Given the description of an element on the screen output the (x, y) to click on. 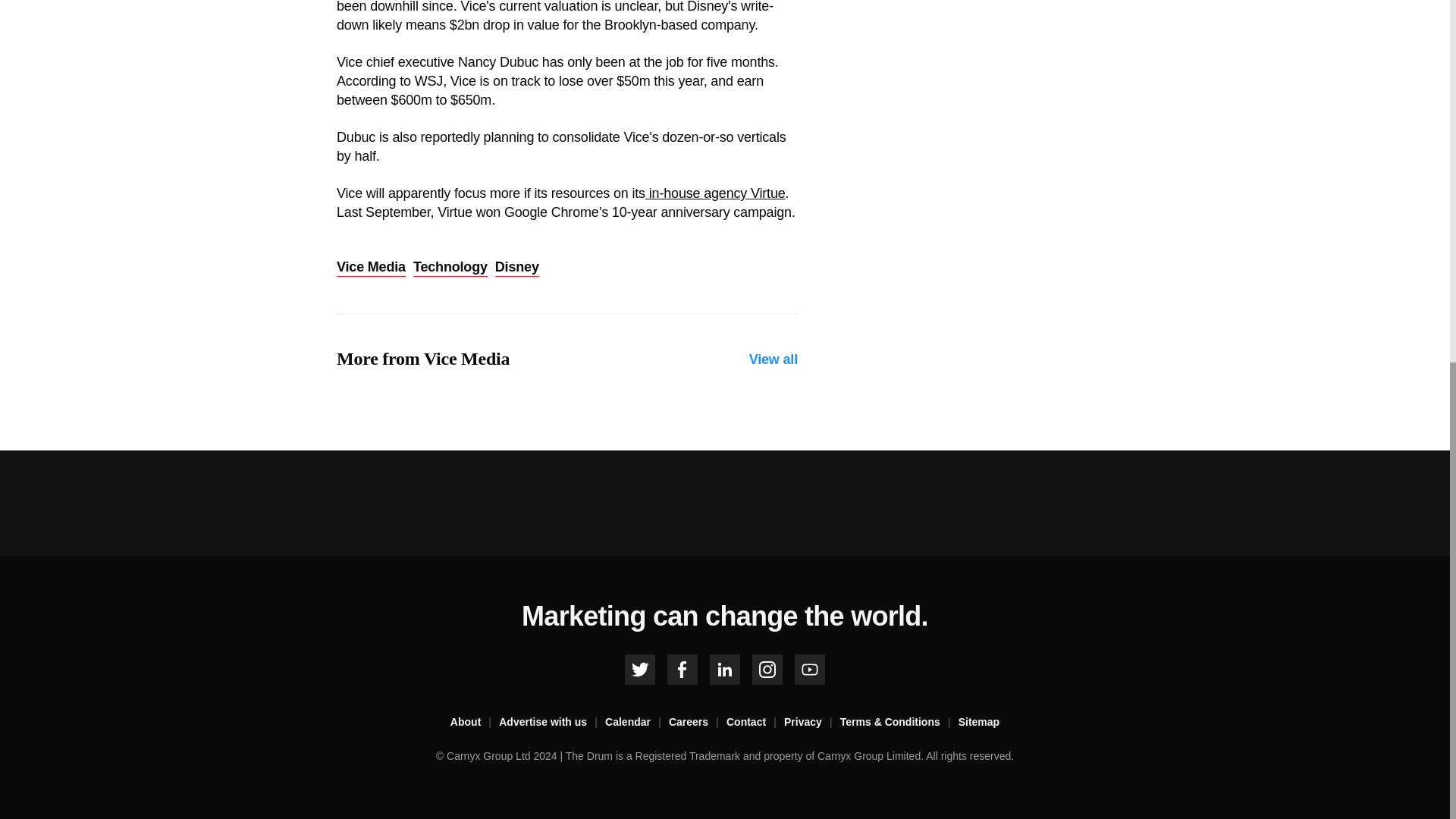
in-house agency Virtue (715, 192)
Vice Media (371, 267)
Contact (755, 722)
Technology (450, 267)
Disney (516, 267)
Careers (697, 722)
Calendar (636, 722)
About (474, 722)
View all (773, 359)
Advertise with us (552, 722)
